Given the description of an element on the screen output the (x, y) to click on. 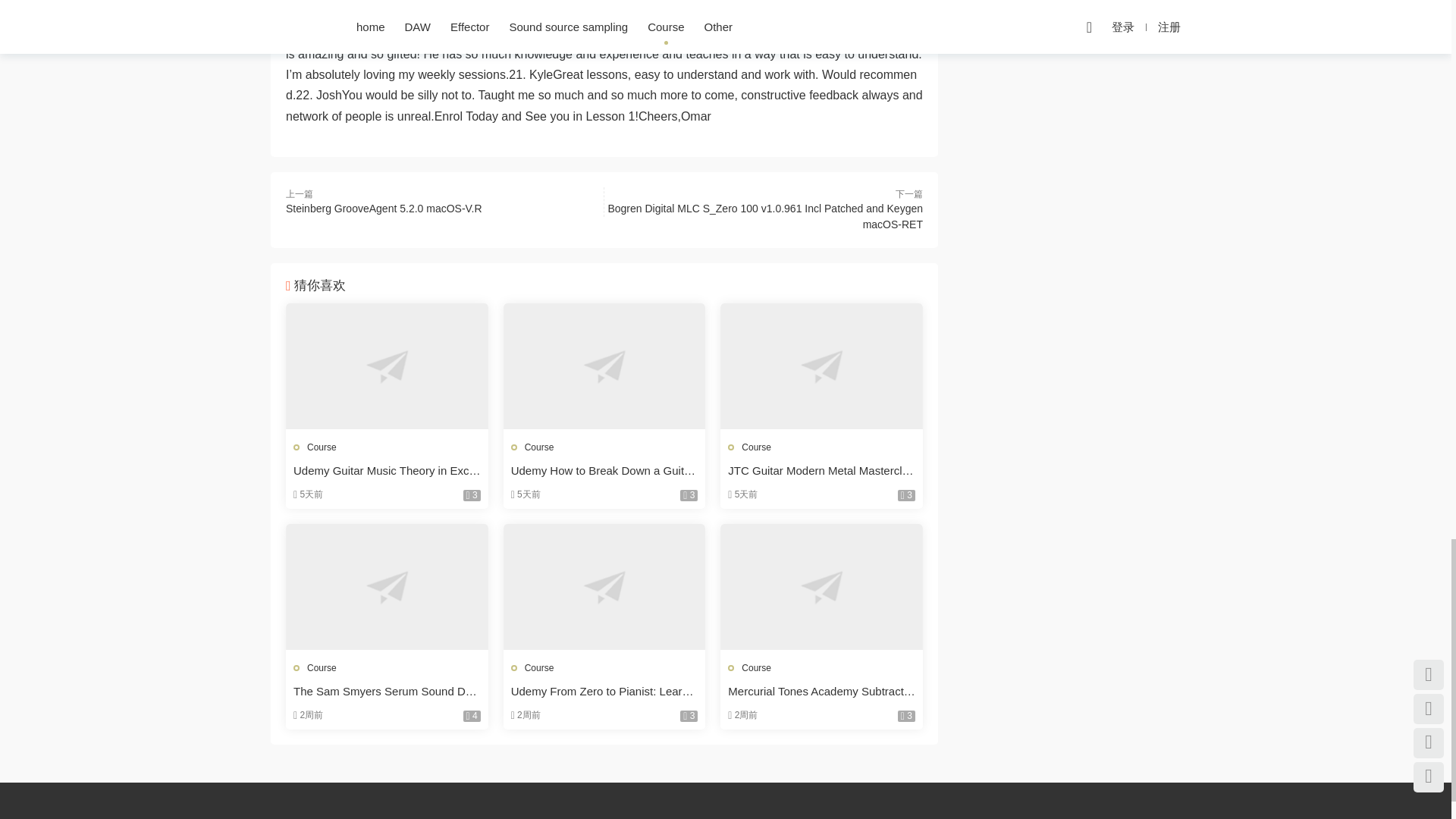
Course (539, 667)
Course (321, 447)
Course (321, 667)
Course (756, 667)
JTC Guitar Modern Metal Masterclass TUTORiAL (821, 366)
The Sam Smyers Serum Sound Design Academy-Technician1 (387, 691)
Steinberg GrooveAgent 5.2.0 macOS-V.R (383, 208)
JTC Guitar Modern Metal Masterclass TUTORiAL (821, 470)
JTC Guitar Modern Metal Masterclass TUTORiAL (821, 470)
